Given the description of an element on the screen output the (x, y) to click on. 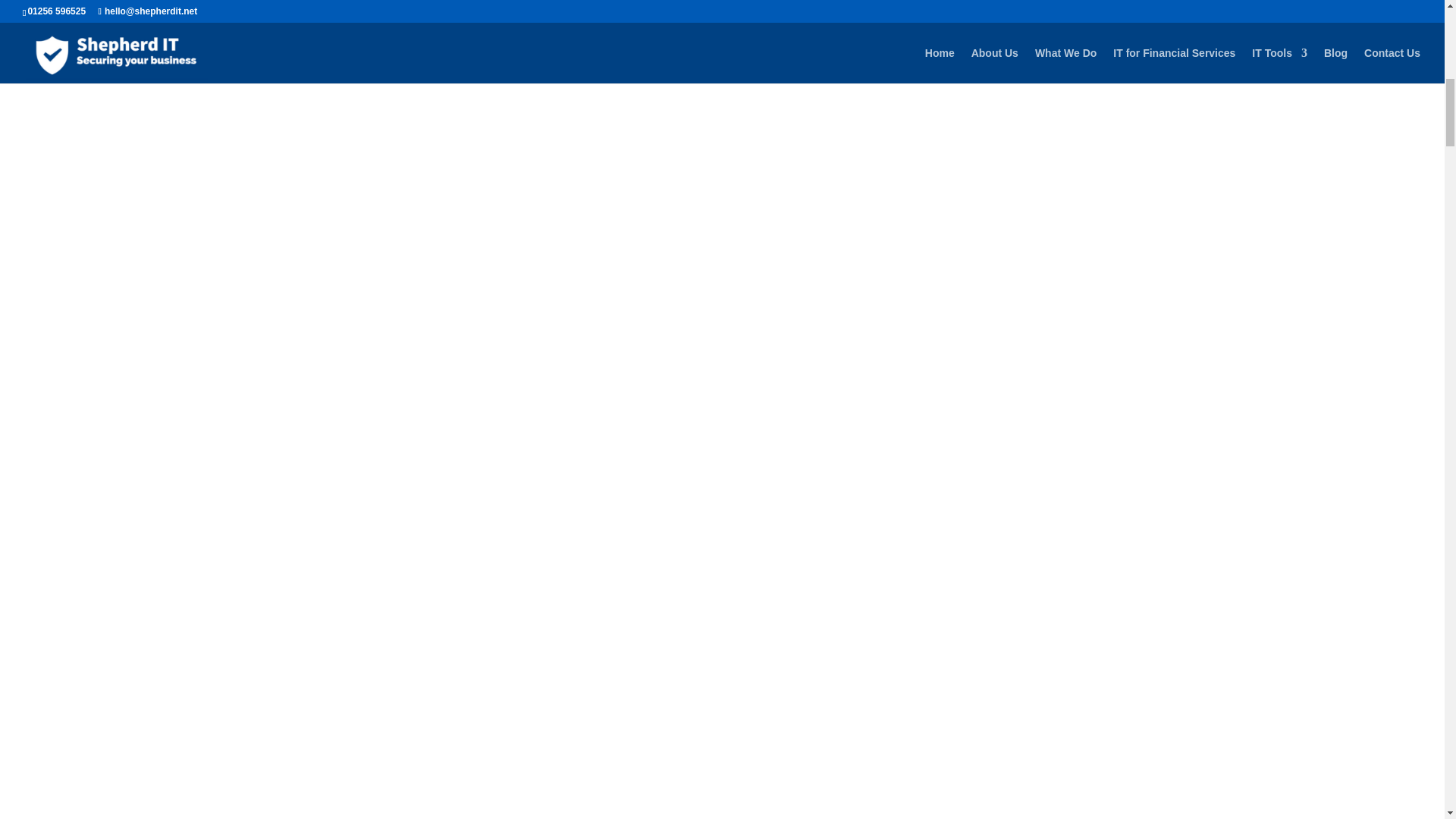
View E-book (977, 36)
Metaverse Explained (478, 13)
